Given the description of an element on the screen output the (x, y) to click on. 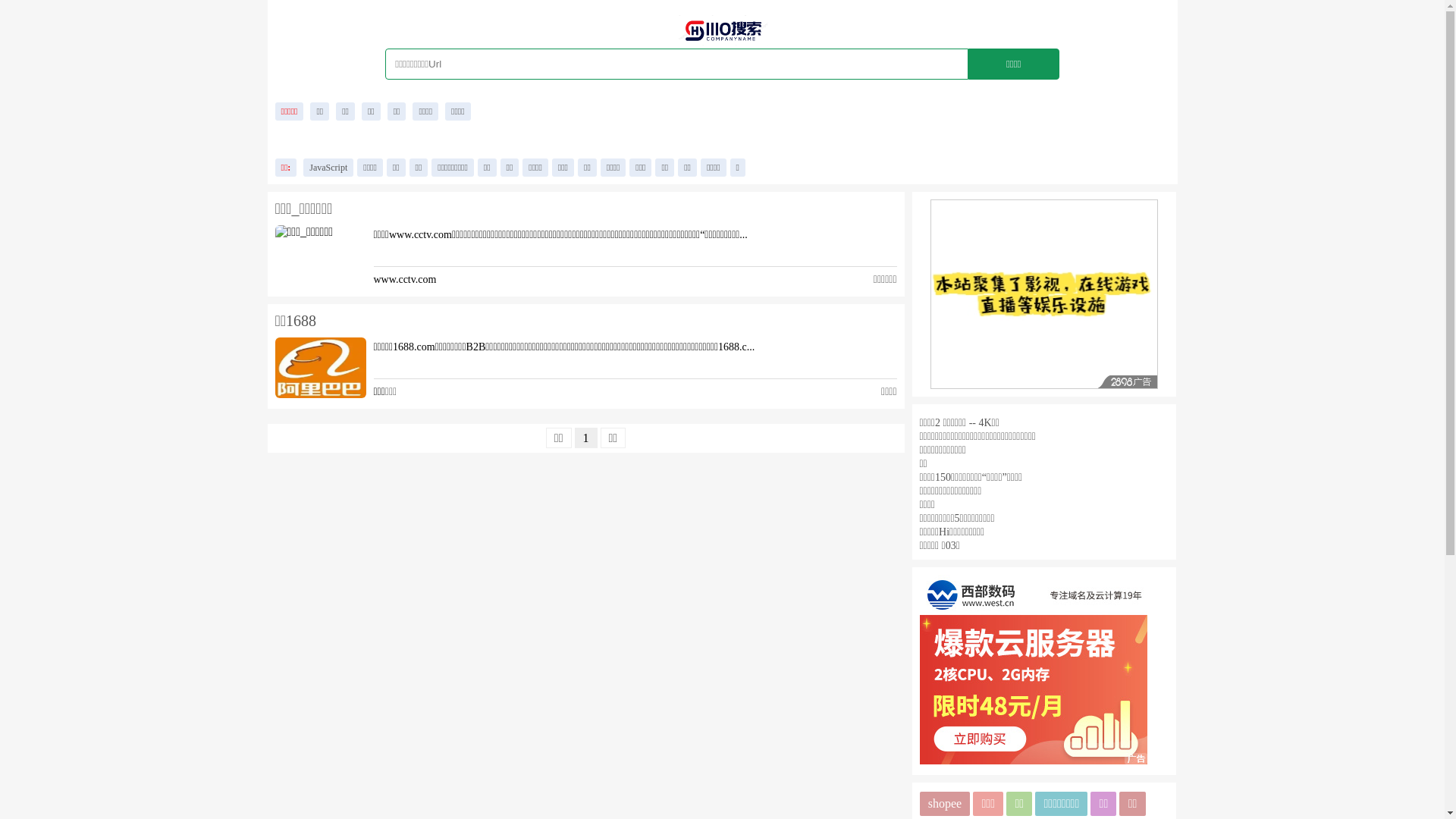
shopee Element type: text (944, 803)
JavaScript Element type: text (328, 167)
